Given the description of an element on the screen output the (x, y) to click on. 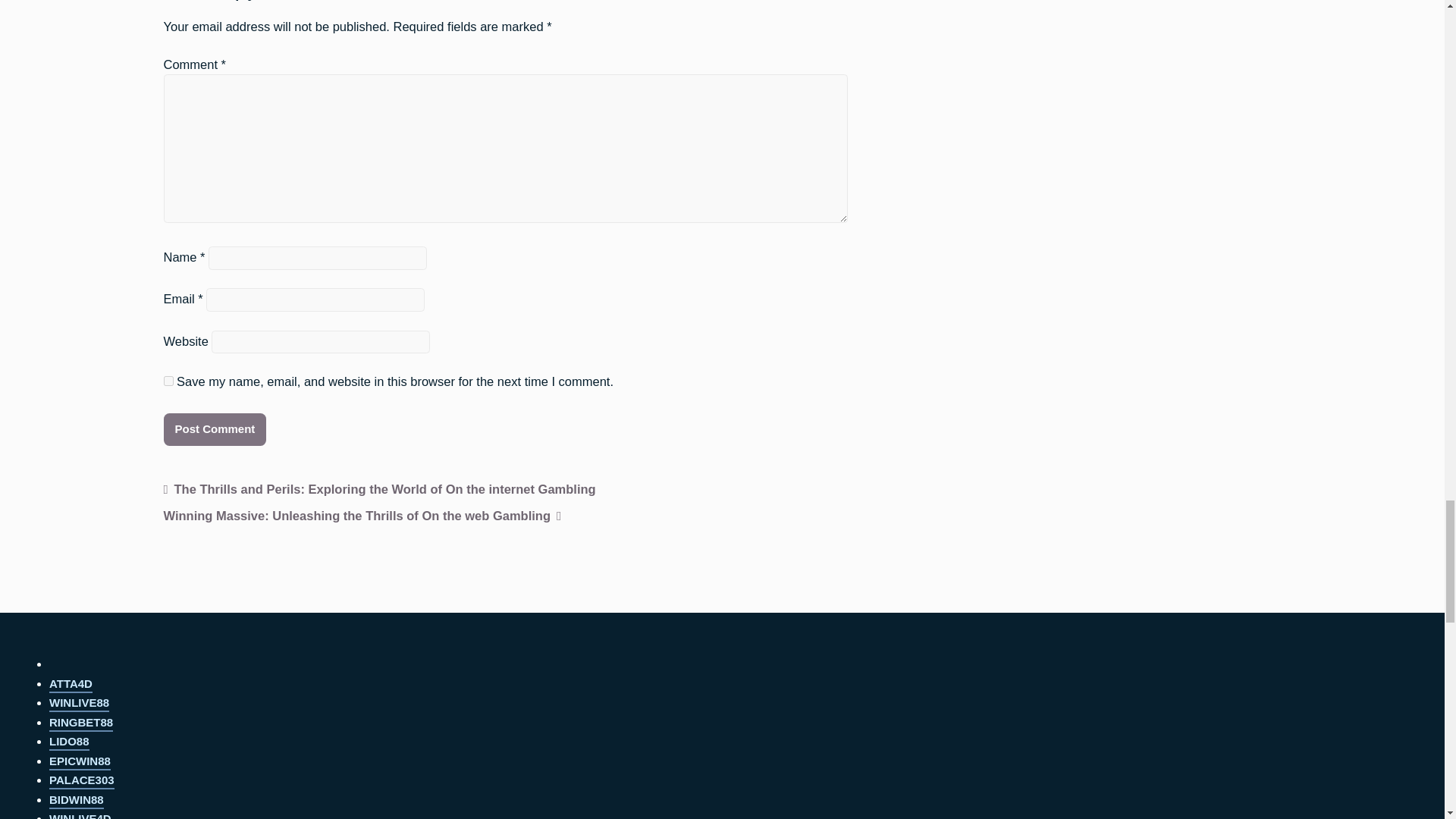
Post Comment (214, 429)
RINGBET88 (81, 723)
EPICWIN88 (79, 762)
BIDWIN88 (76, 801)
LIDO88 (68, 742)
Post Comment (214, 429)
ATTA4D (71, 684)
PALACE303 (82, 781)
yes (168, 380)
